Given the description of an element on the screen output the (x, y) to click on. 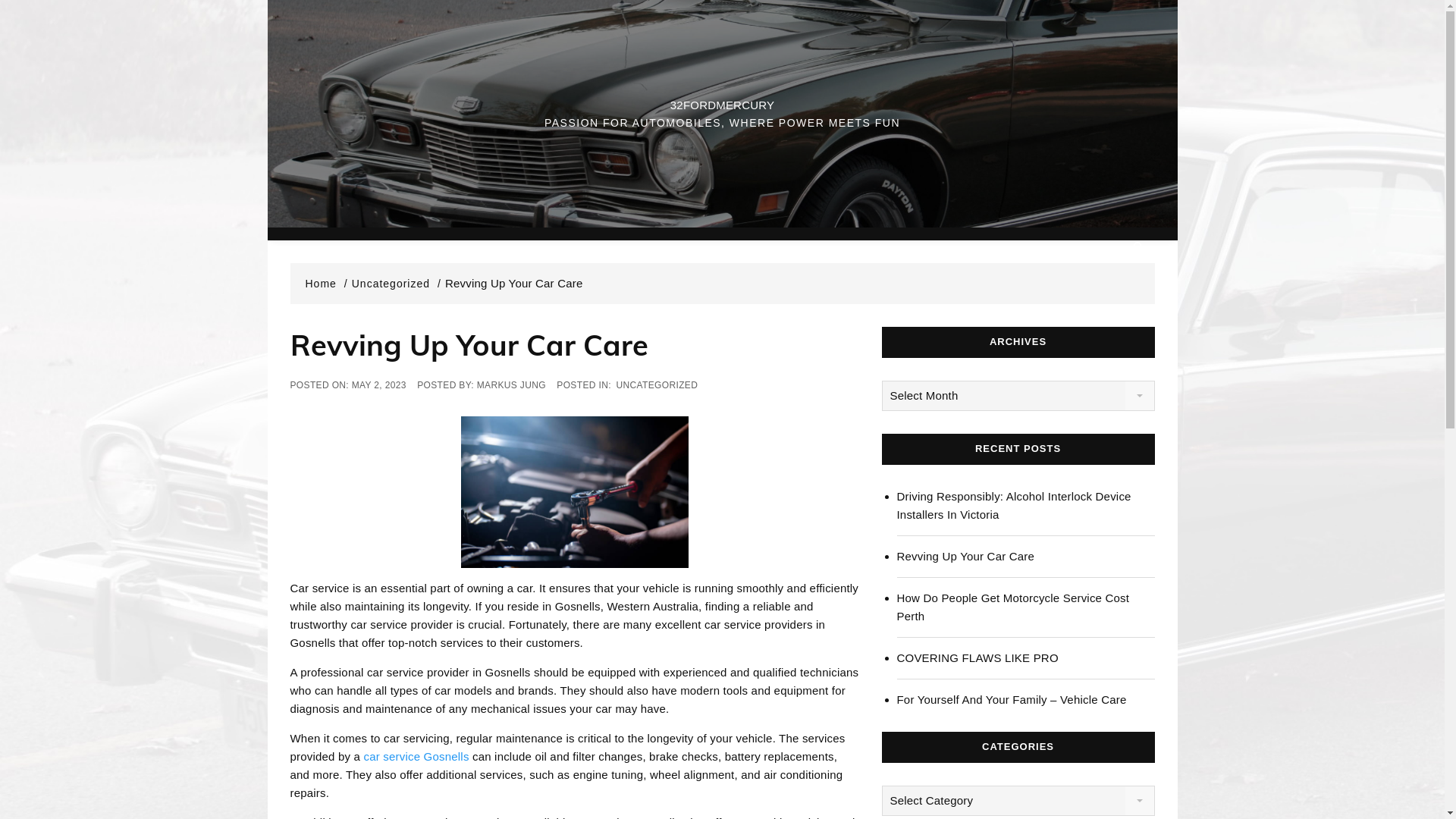
32FORDMERCURY Element type: text (722, 105)
car service Gosnells Element type: text (416, 755)
Revving Up Your Car Care Element type: text (1025, 556)
How Do People Get Motorcycle Service Cost Perth Element type: text (1025, 607)
UNCATEGORIZED Element type: text (657, 385)
MAY 2, 2023 Element type: text (378, 385)
1.jpg Element type: hover (574, 491)
MARKUS JUNG Element type: text (511, 385)
Uncategorized Element type: text (396, 283)
Home Element type: text (325, 283)
COVERING FLAWS LIKE PRO Element type: text (1025, 658)
